Given the description of an element on the screen output the (x, y) to click on. 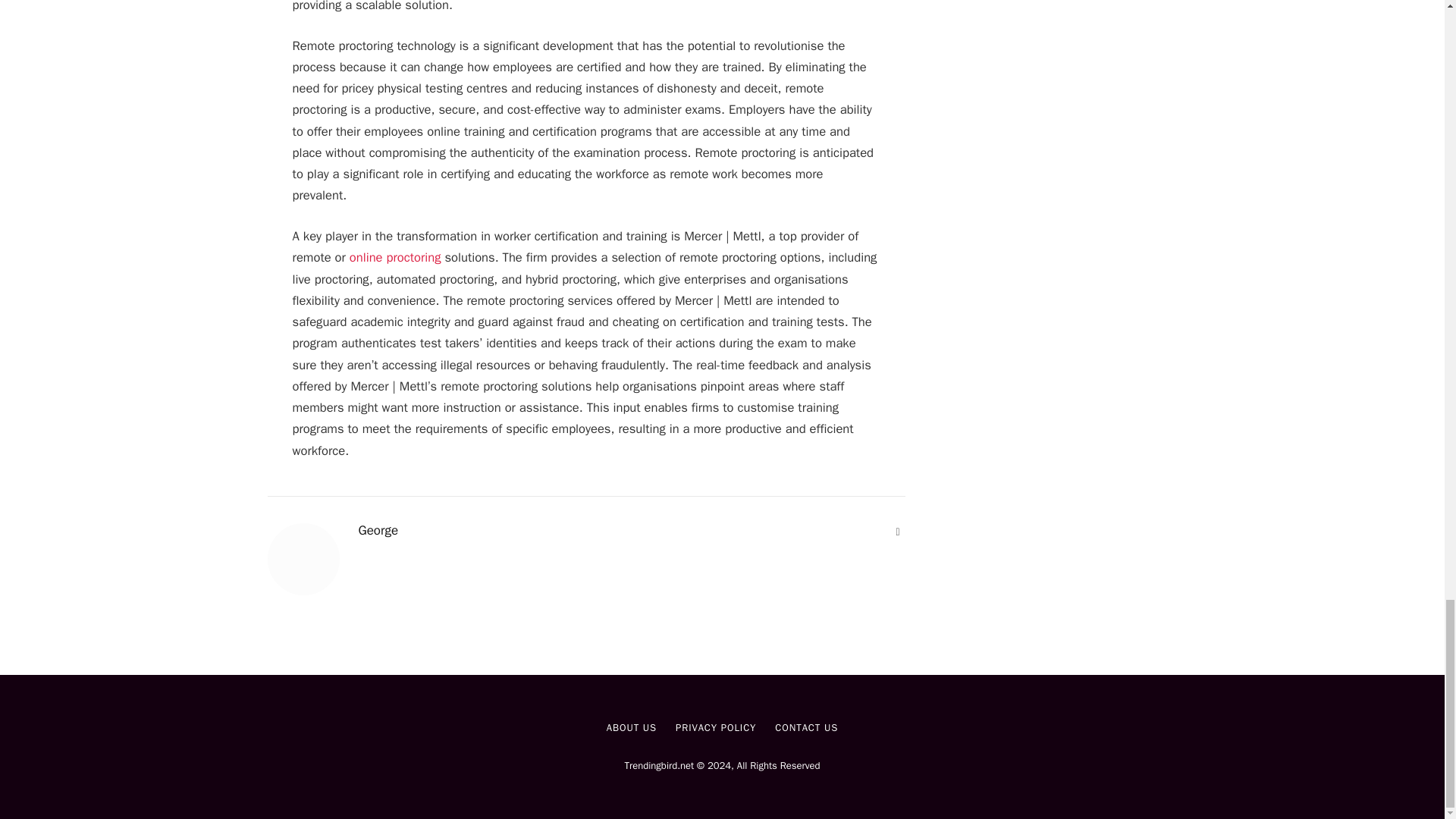
Website (897, 531)
online proctoring (395, 257)
George (377, 530)
